Given the description of an element on the screen output the (x, y) to click on. 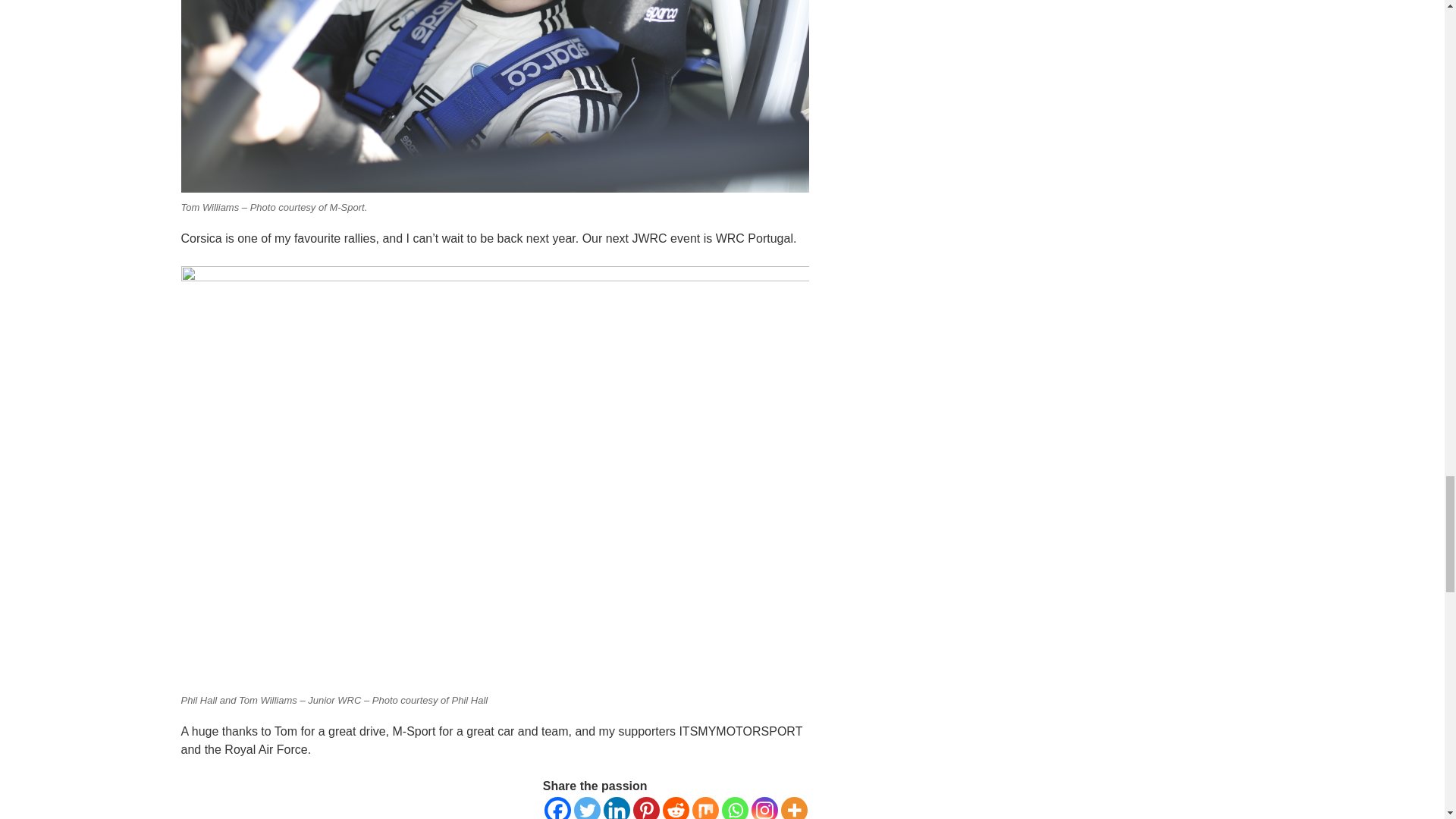
Whatsapp (735, 807)
Facebook (557, 807)
Linkedin (617, 807)
Reddit (675, 807)
Mix (706, 807)
Instagram (764, 807)
More (794, 807)
Pinterest (646, 807)
Twitter (586, 807)
